Given the description of an element on the screen output the (x, y) to click on. 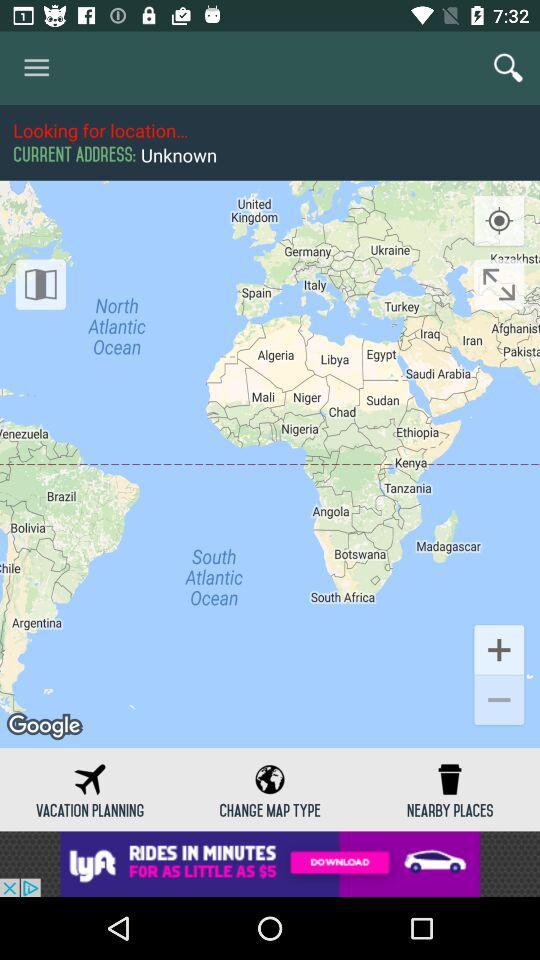
open advertisement (270, 864)
